Given the description of an element on the screen output the (x, y) to click on. 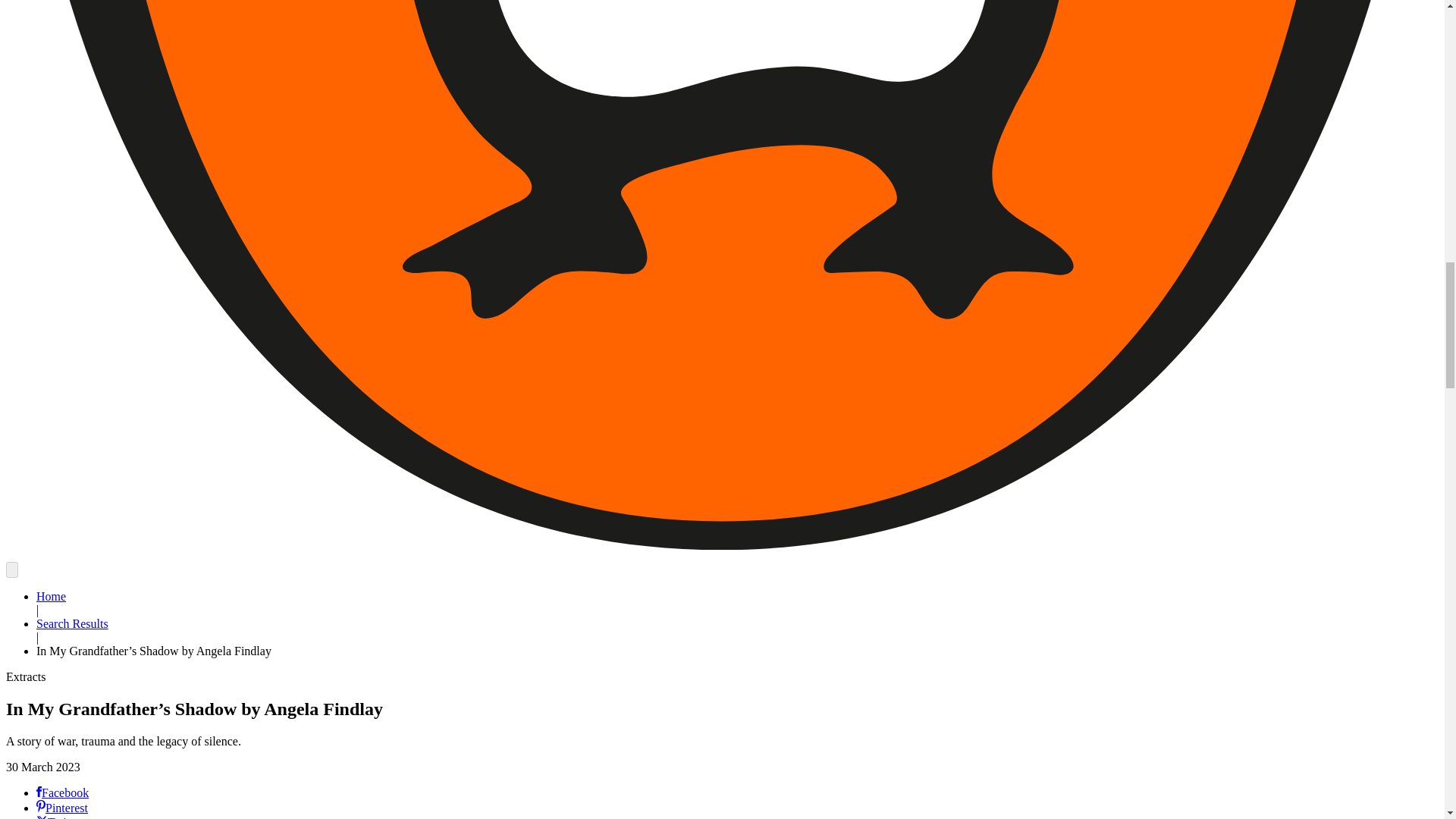
Pinterest (61, 807)
Search Results (71, 623)
Twitter (59, 817)
Facebook (62, 792)
Home (50, 595)
